Given the description of an element on the screen output the (x, y) to click on. 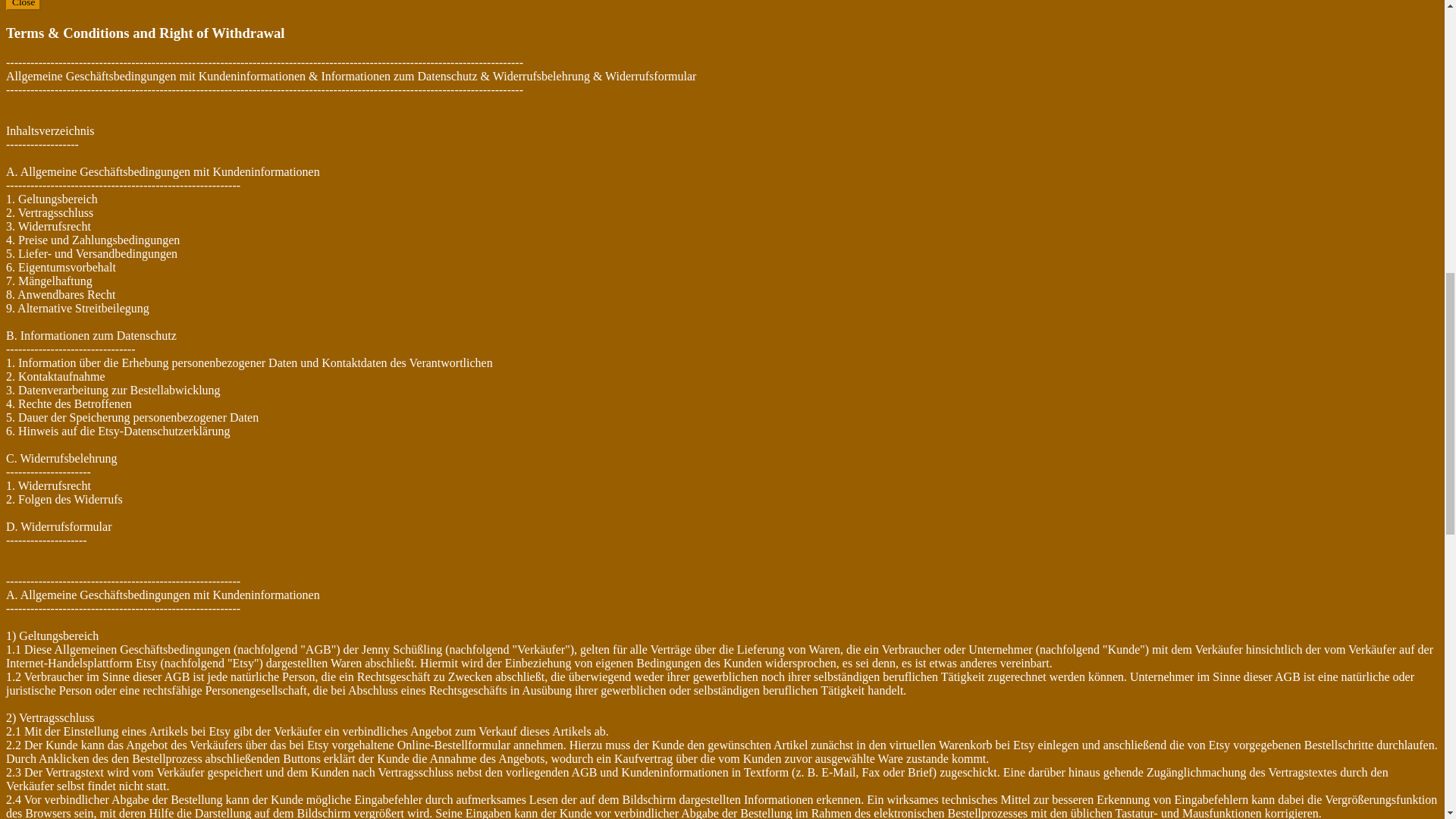
Close (22, 5)
